Given the description of an element on the screen output the (x, y) to click on. 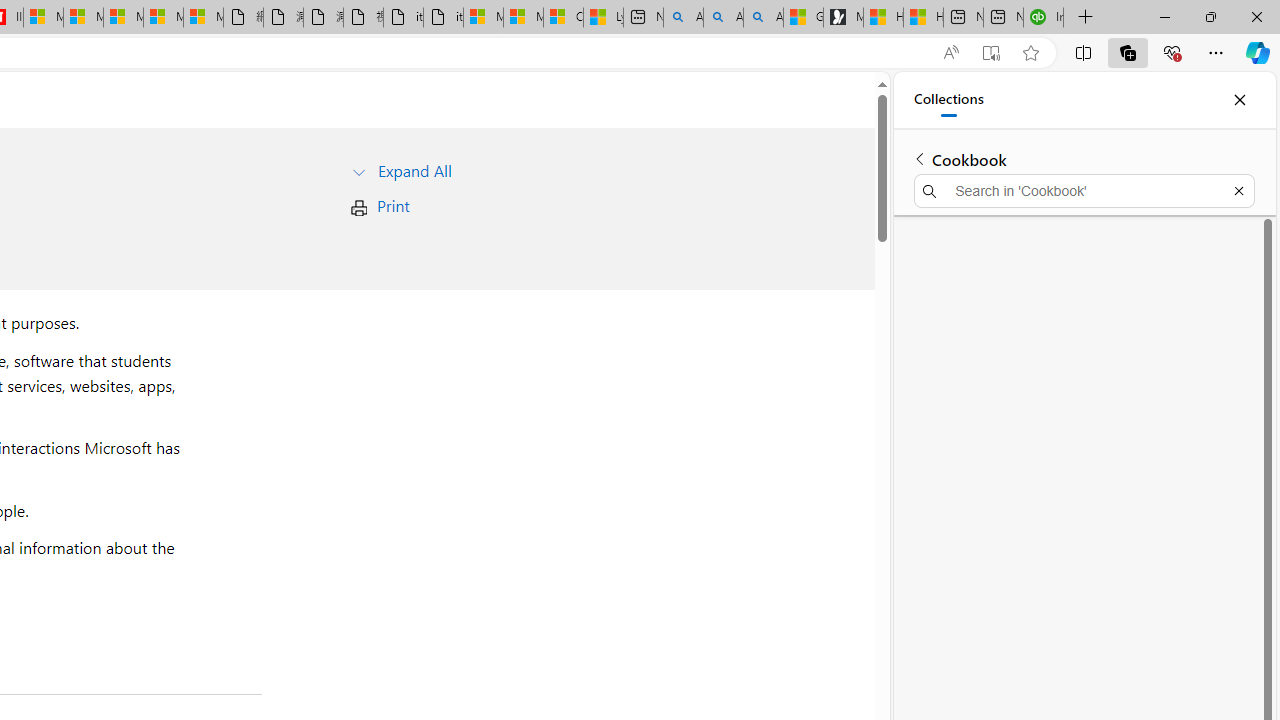
Intuit QuickBooks Online - Quickbooks (1043, 17)
Alabama high school quarterback dies - Search Videos (763, 17)
Expand All (414, 170)
itconcepthk.com/projector_solutions.mp4 (443, 17)
Alabama high school quarterback dies - Search (683, 17)
Back to list of collections (920, 158)
